Given the description of an element on the screen output the (x, y) to click on. 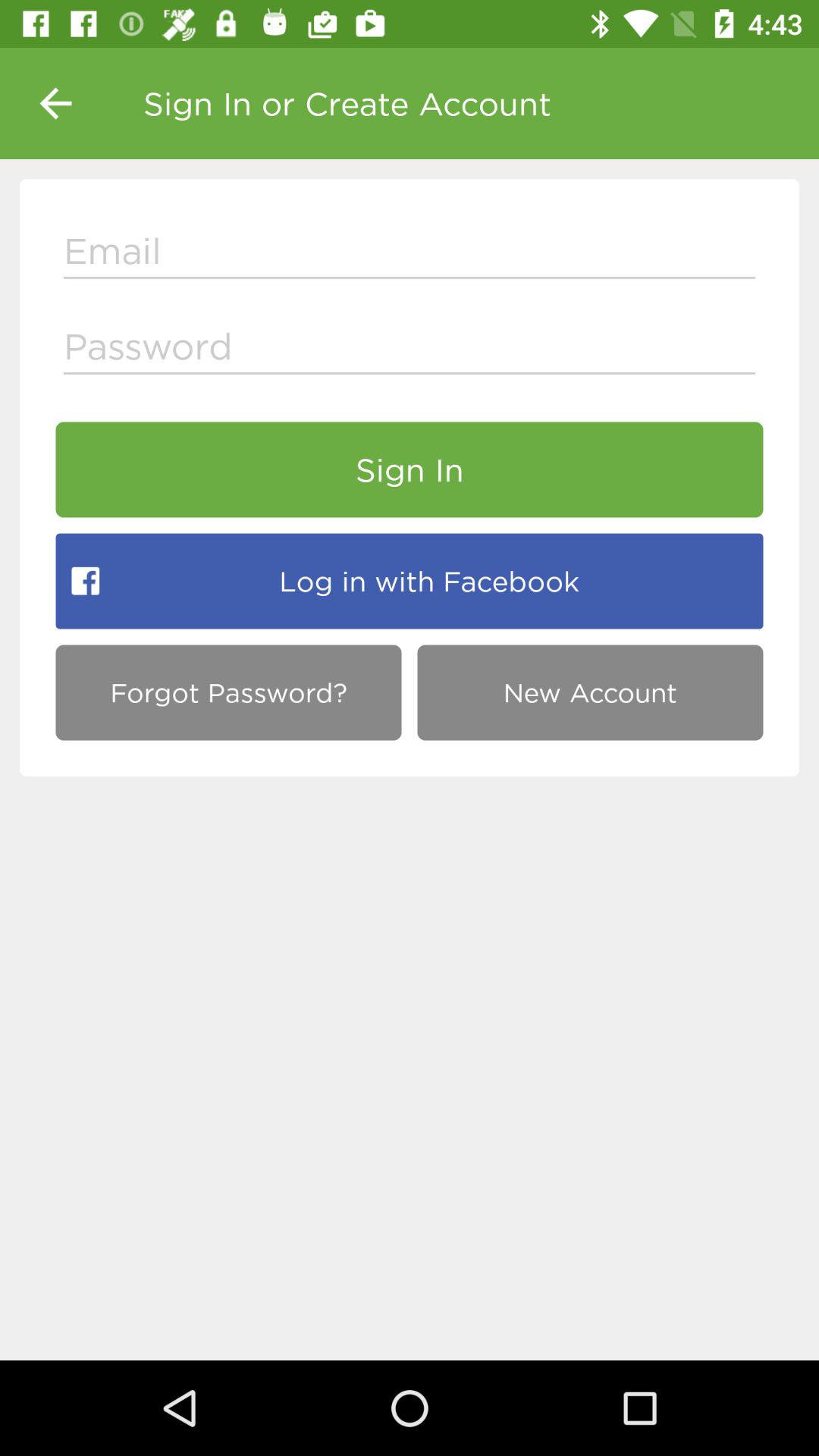
input email adress (409, 254)
